Given the description of an element on the screen output the (x, y) to click on. 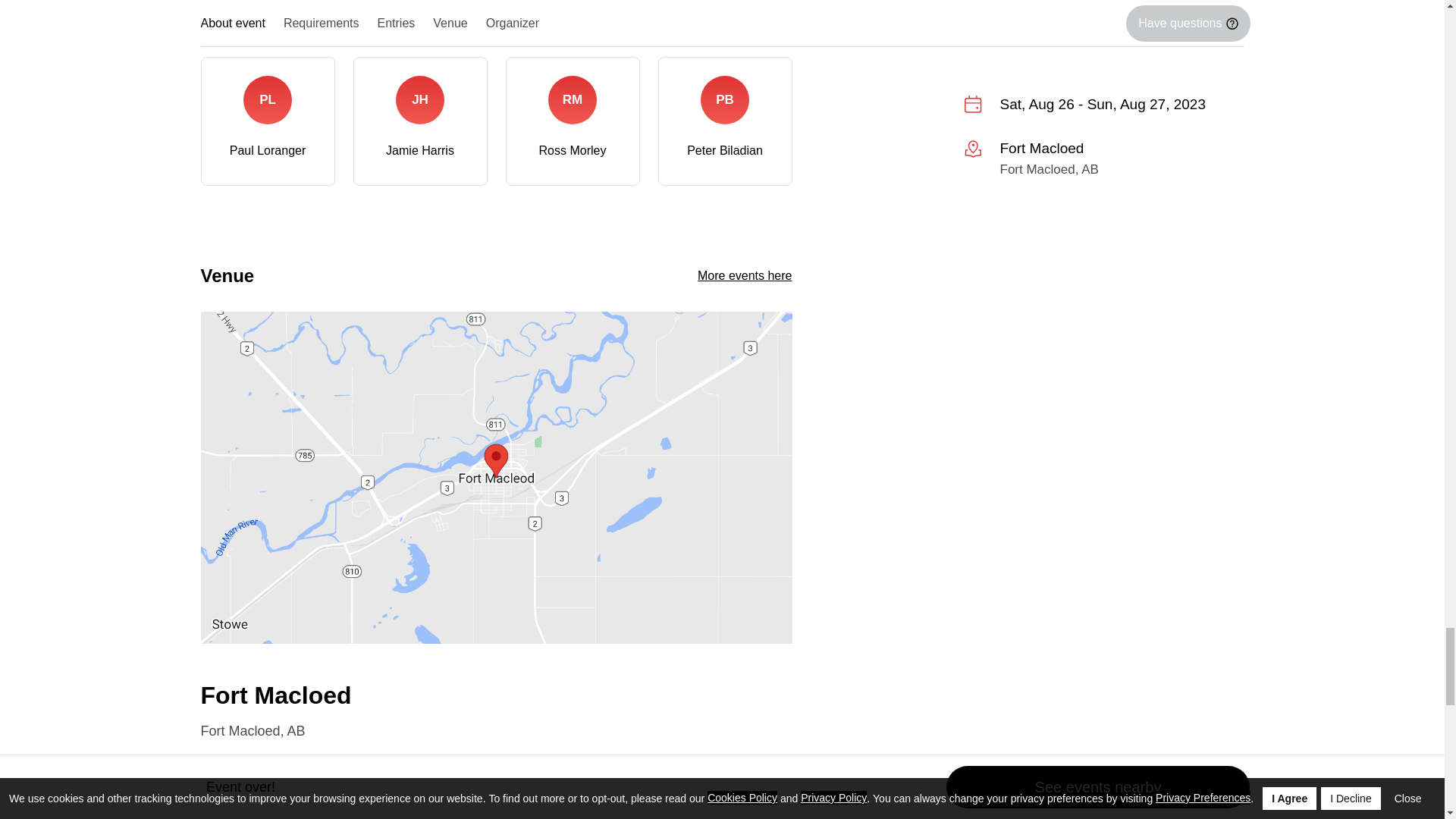
More events here (744, 275)
